Given the description of an element on the screen output the (x, y) to click on. 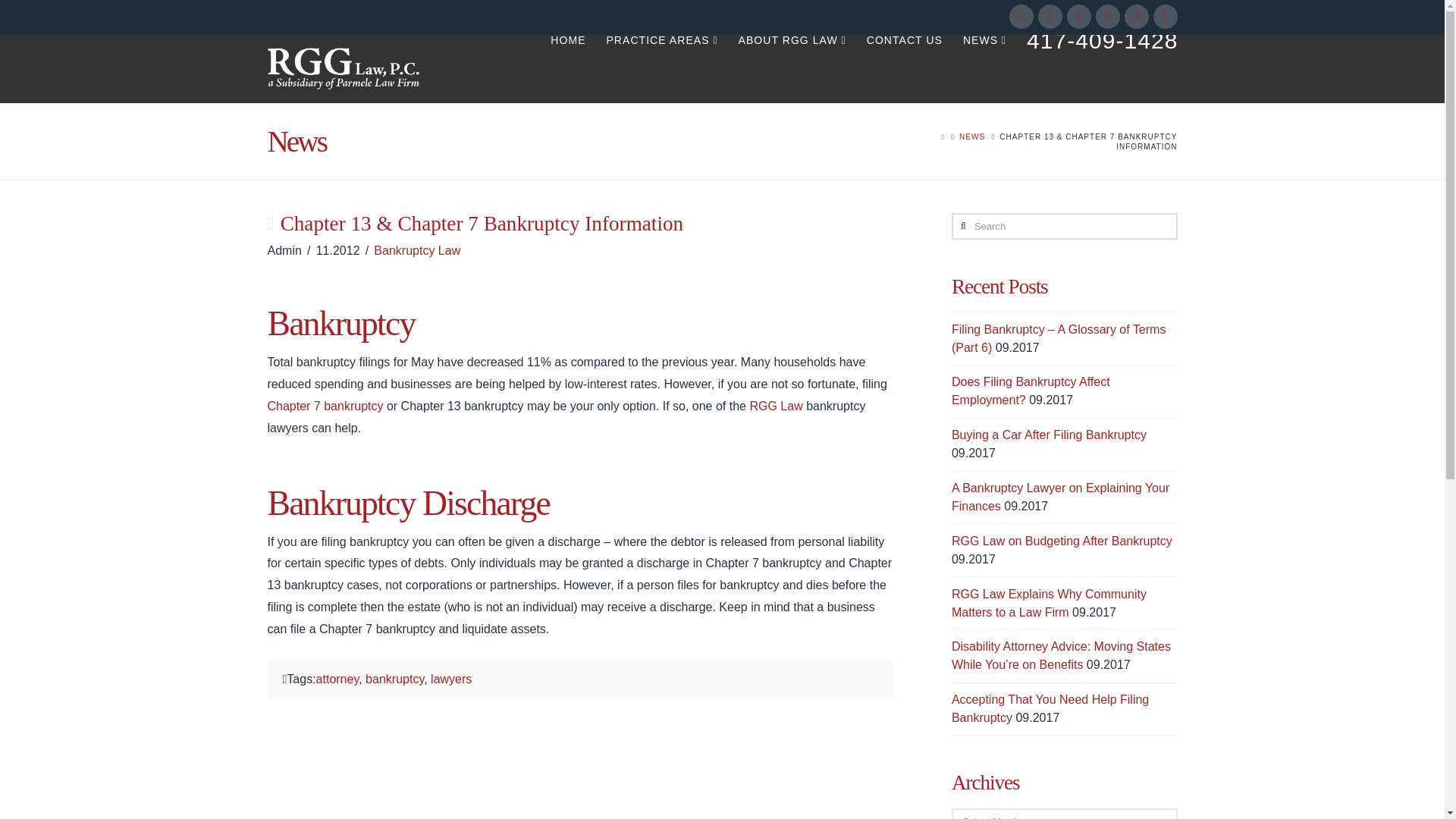
Vimeo (1164, 16)
ABOUT RGG LAW (792, 69)
Twitter (1048, 16)
PRACTICE AREAS (660, 69)
NEWS (984, 69)
CONTACT US (904, 69)
LinkedIn (1106, 16)
YouTube (1136, 16)
417-409-1428 (1096, 62)
Facebook (1020, 16)
